Given the description of an element on the screen output the (x, y) to click on. 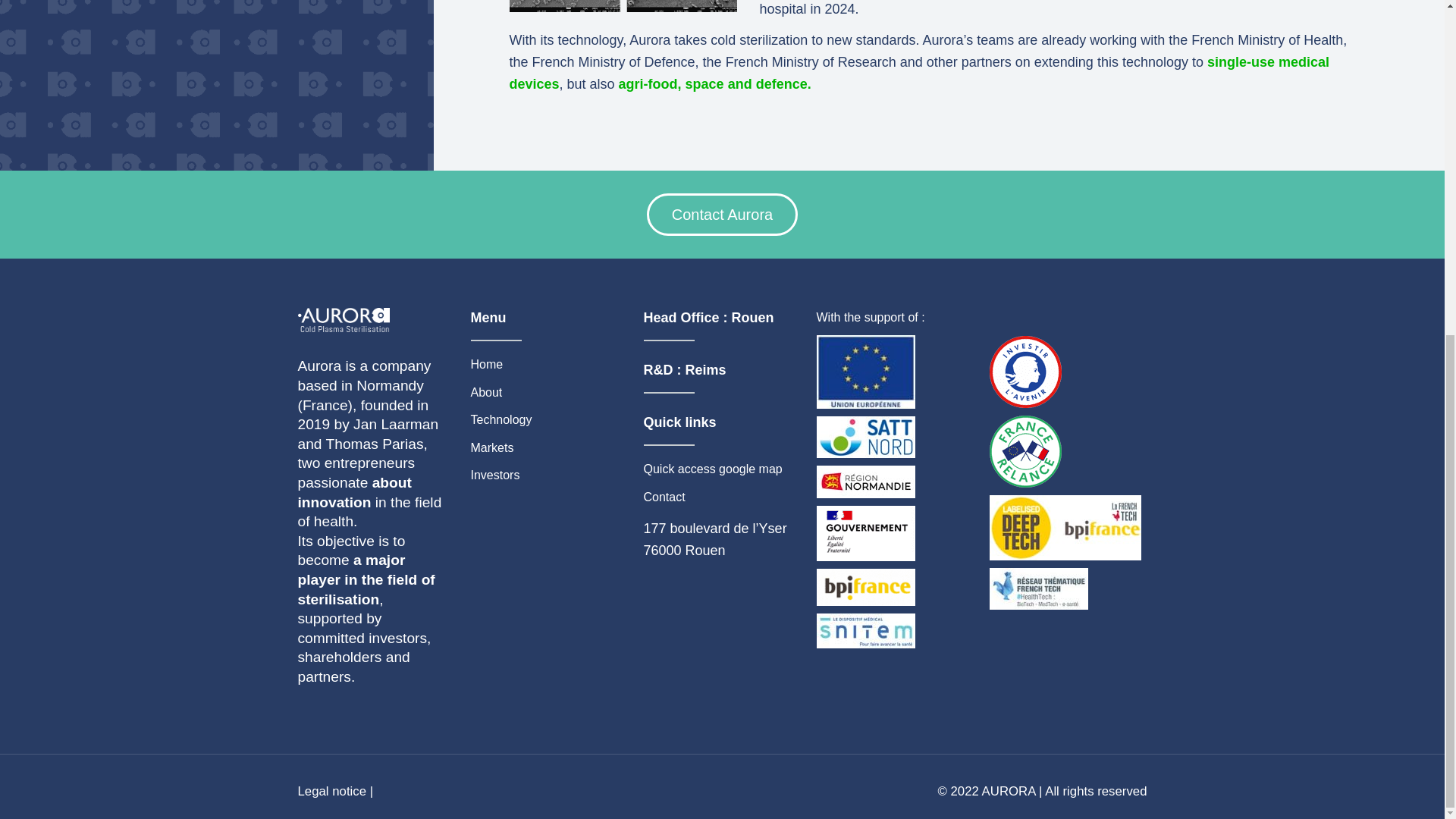
Technology (500, 417)
logo-deep-tech (1064, 527)
Contact Aurora (721, 214)
logo-health-tech (1037, 588)
About (500, 390)
Markets (500, 445)
logo-snitem (864, 630)
Home (500, 361)
